Given the description of an element on the screen output the (x, y) to click on. 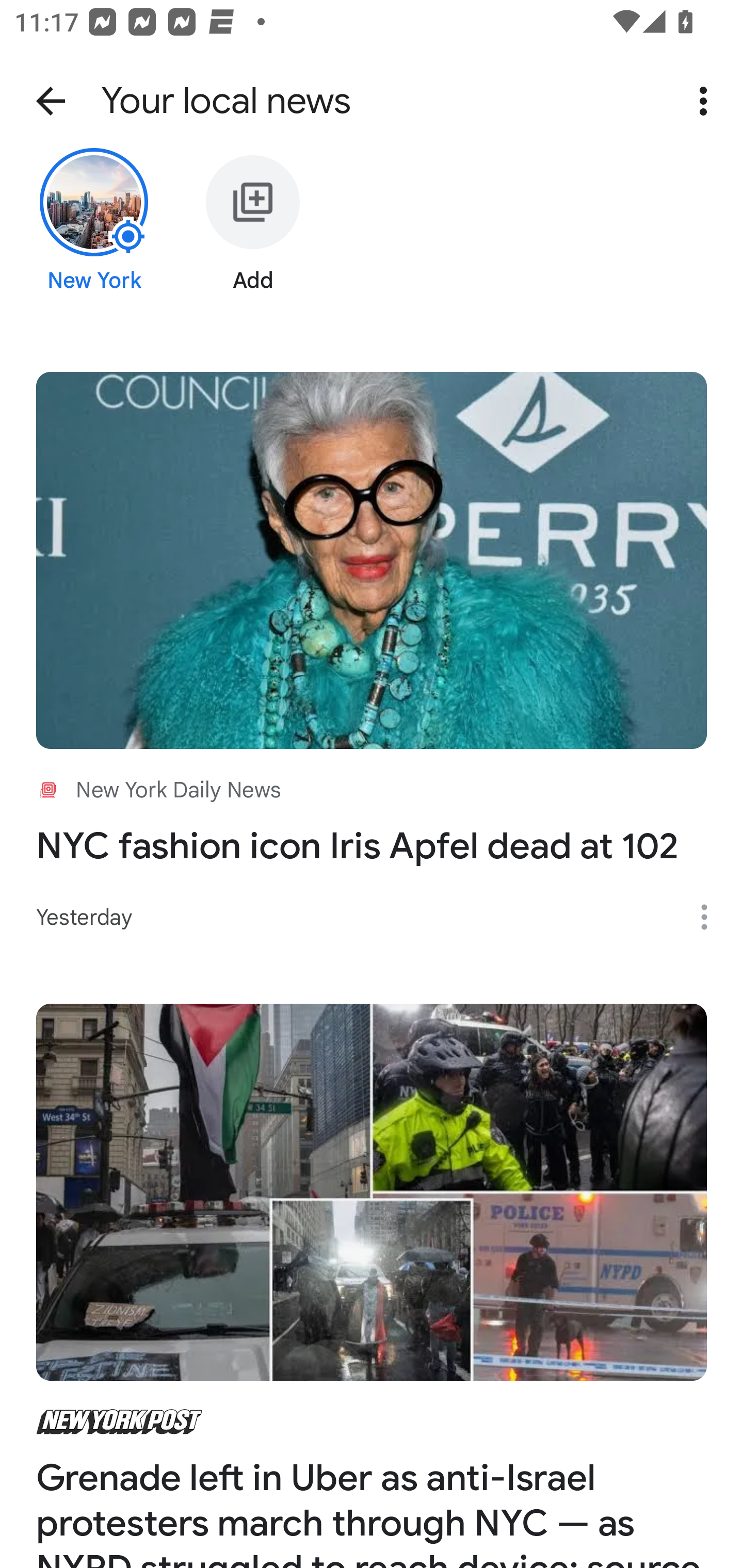
Navigate up (50, 101)
More options (706, 101)
Add (252, 235)
More options (711, 917)
